Given the description of an element on the screen output the (x, y) to click on. 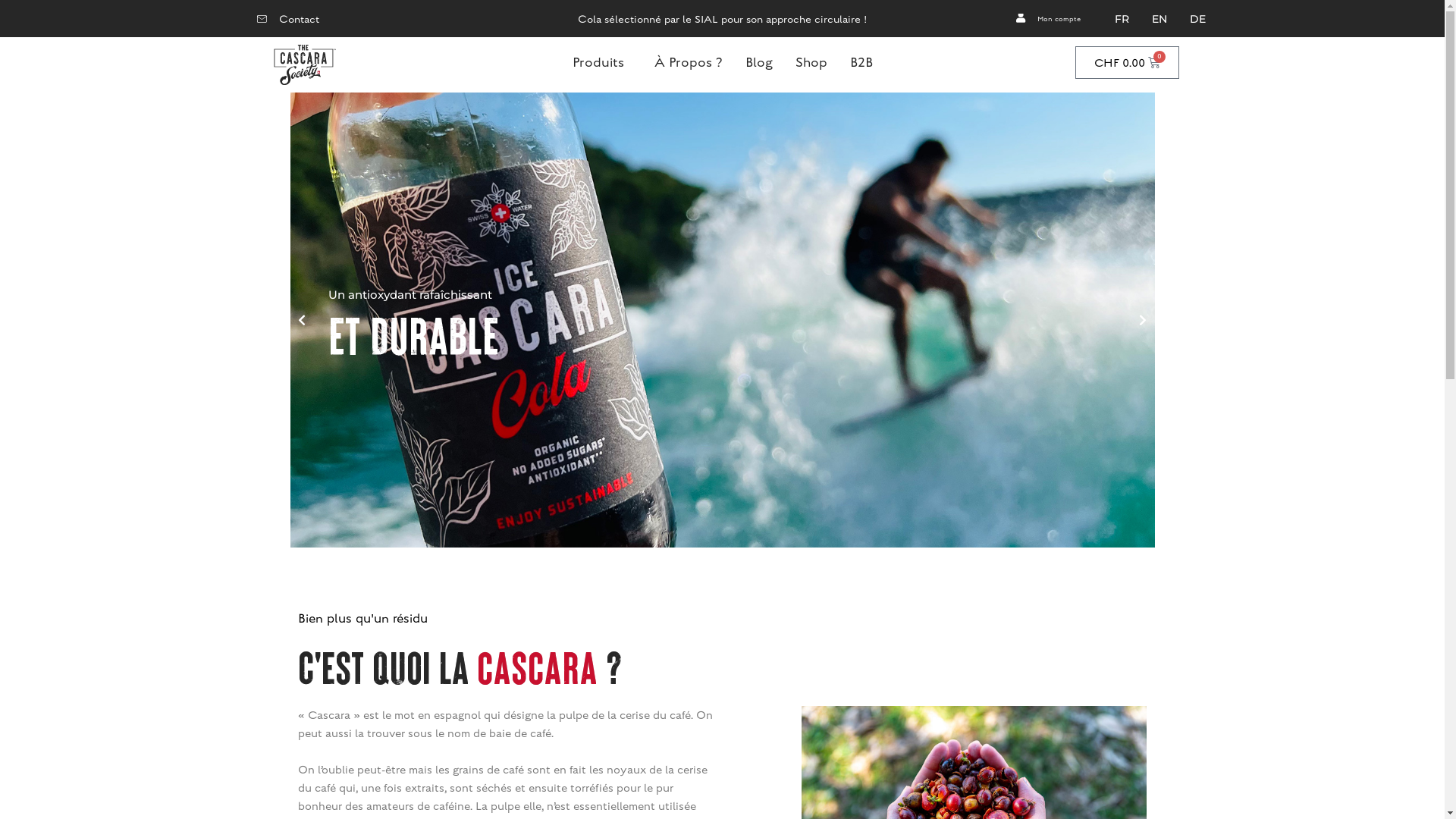
Contact Element type: text (288, 19)
Mon compte Element type: text (1046, 18)
CHF 0.00
0 Element type: text (1127, 62)
Produits Element type: text (602, 62)
B2B Element type: text (861, 62)
LOGO_THE_CASCARA_SOCIETY_noir_rouge_600px_NoBorder Element type: hover (303, 64)
DE Element type: text (1197, 18)
Shop Element type: text (811, 62)
FR Element type: text (1121, 18)
EN Element type: text (1159, 18)
Blog Element type: text (759, 62)
